Given the description of an element on the screen output the (x, y) to click on. 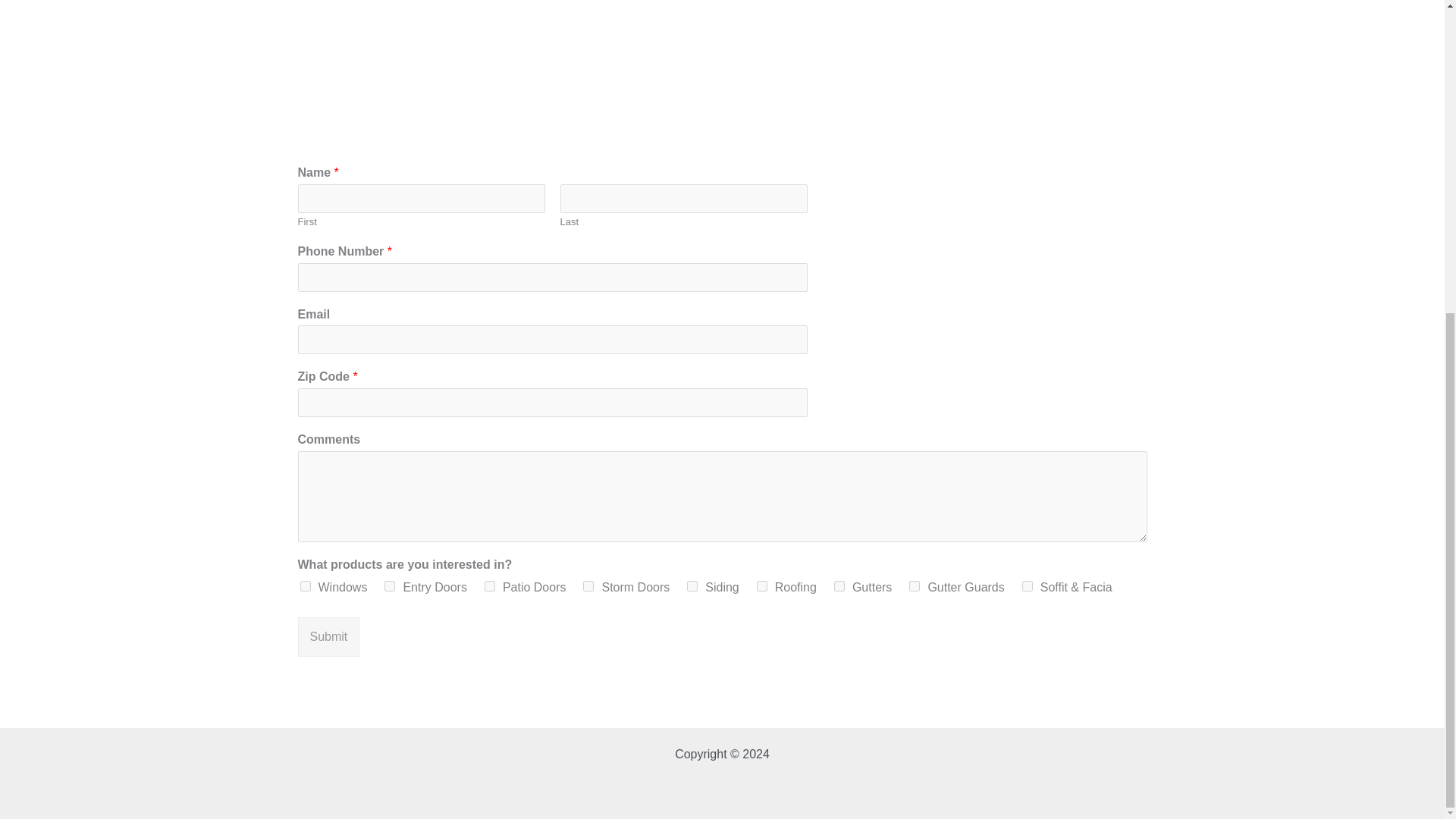
Submit (328, 636)
Entry Doors (389, 585)
Siding (692, 585)
Windows (305, 585)
Patio Doors (489, 585)
Gutter Guards (914, 585)
Roofing (762, 585)
Gutters (839, 585)
Storm Doors (588, 585)
